Given the description of an element on the screen output the (x, y) to click on. 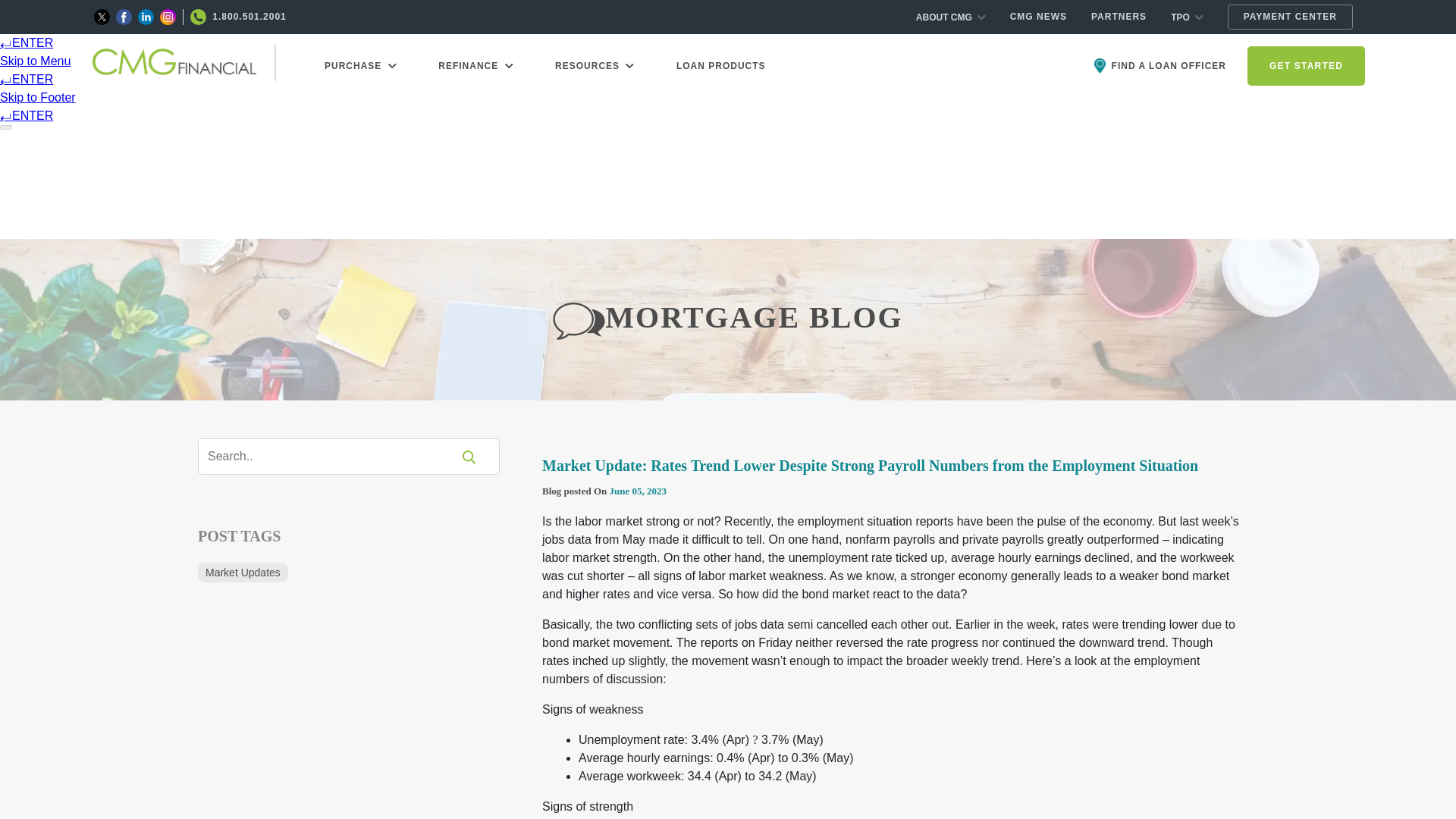
Search (334, 456)
CMG NEWS (1038, 17)
1.800.501.2001 (238, 17)
PAYMENT CENTER (1289, 16)
PARTNERS (1118, 17)
